Given the description of an element on the screen output the (x, y) to click on. 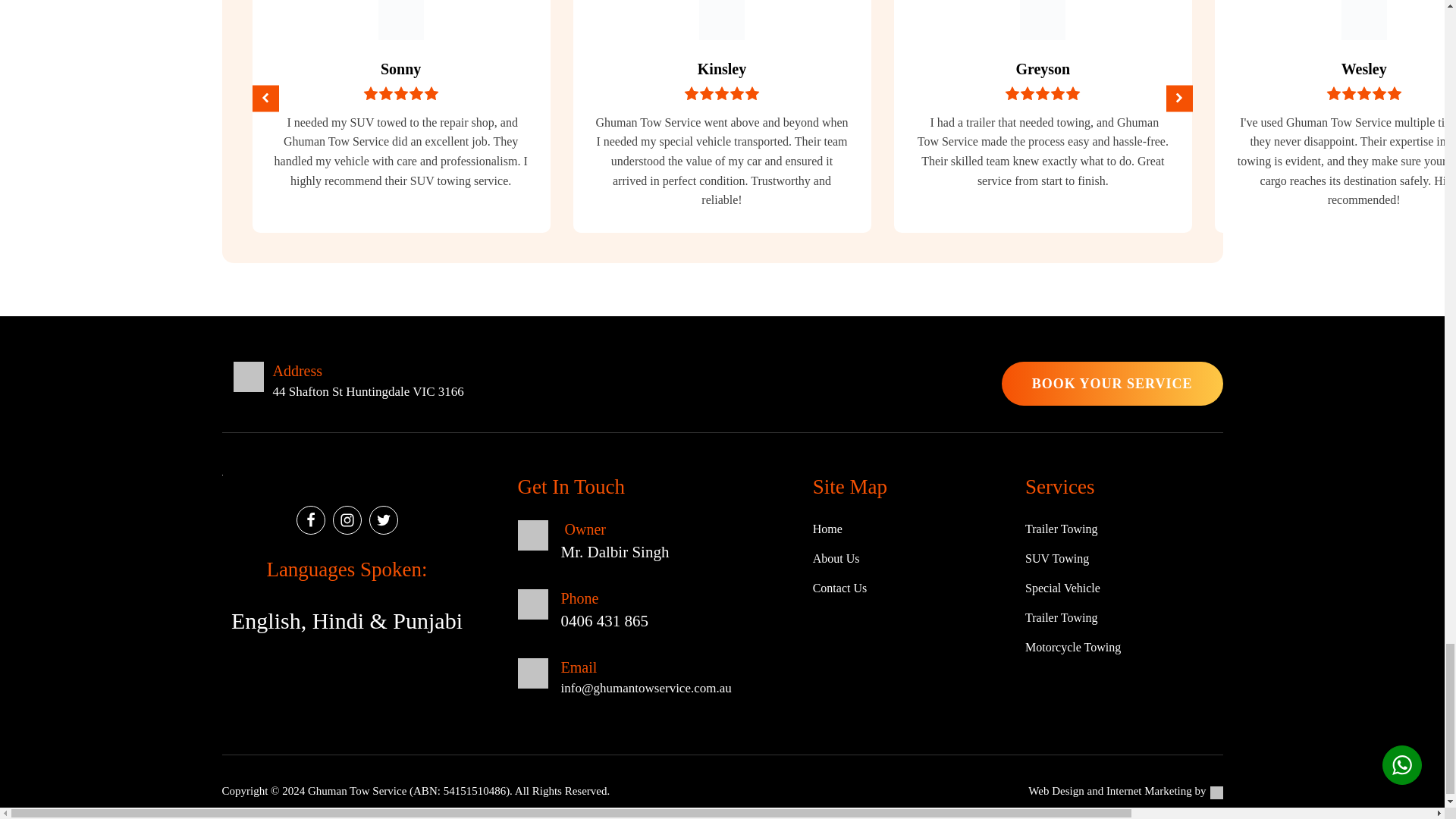
BOOK YOUR SERVICE (1112, 383)
44 Shafton St Huntingdale VIC 3166 (368, 392)
